Given the description of an element on the screen output the (x, y) to click on. 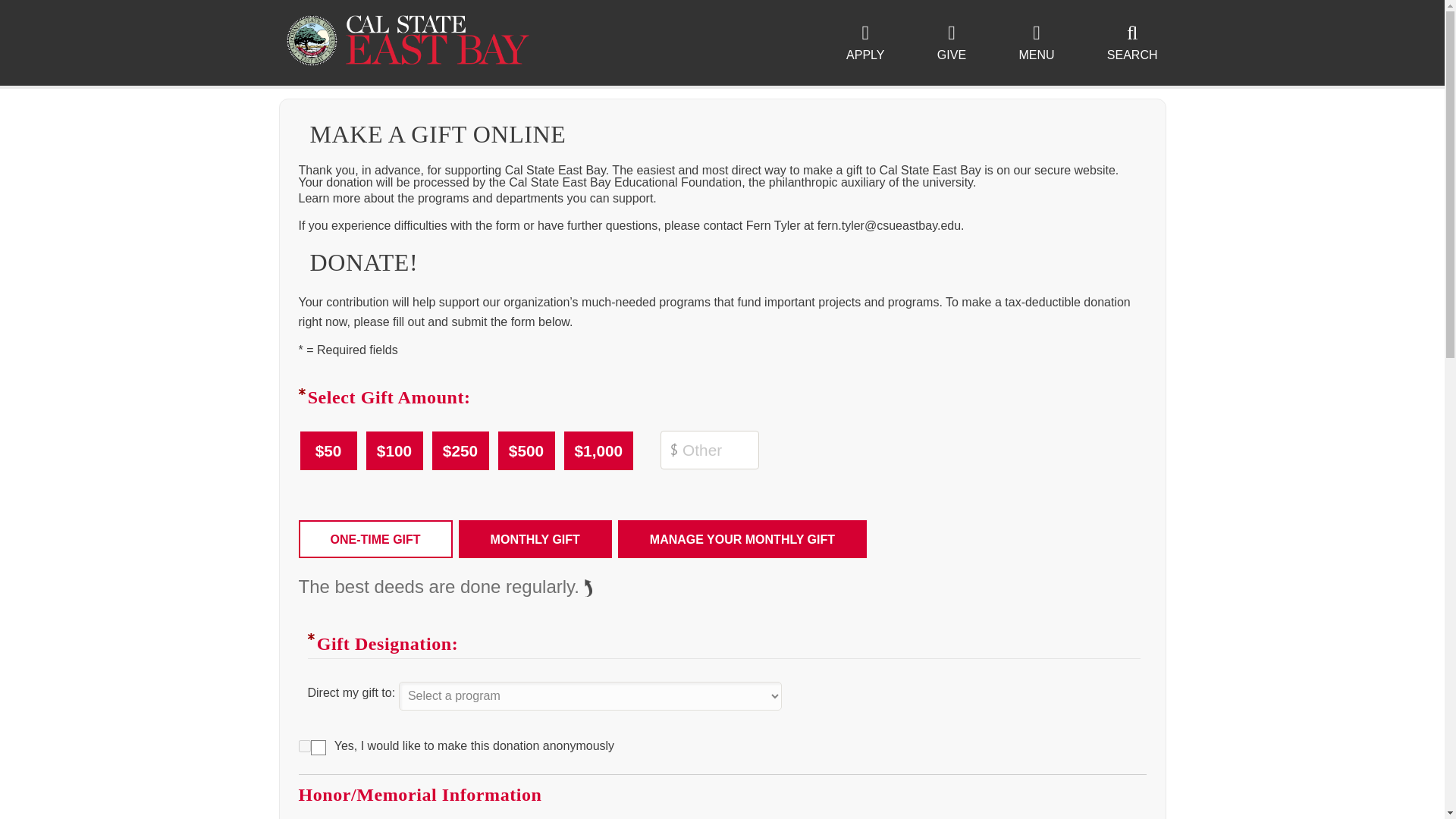
APPLY (865, 43)
on (304, 746)
MENU (1036, 43)
GIVE (951, 43)
